Given the description of an element on the screen output the (x, y) to click on. 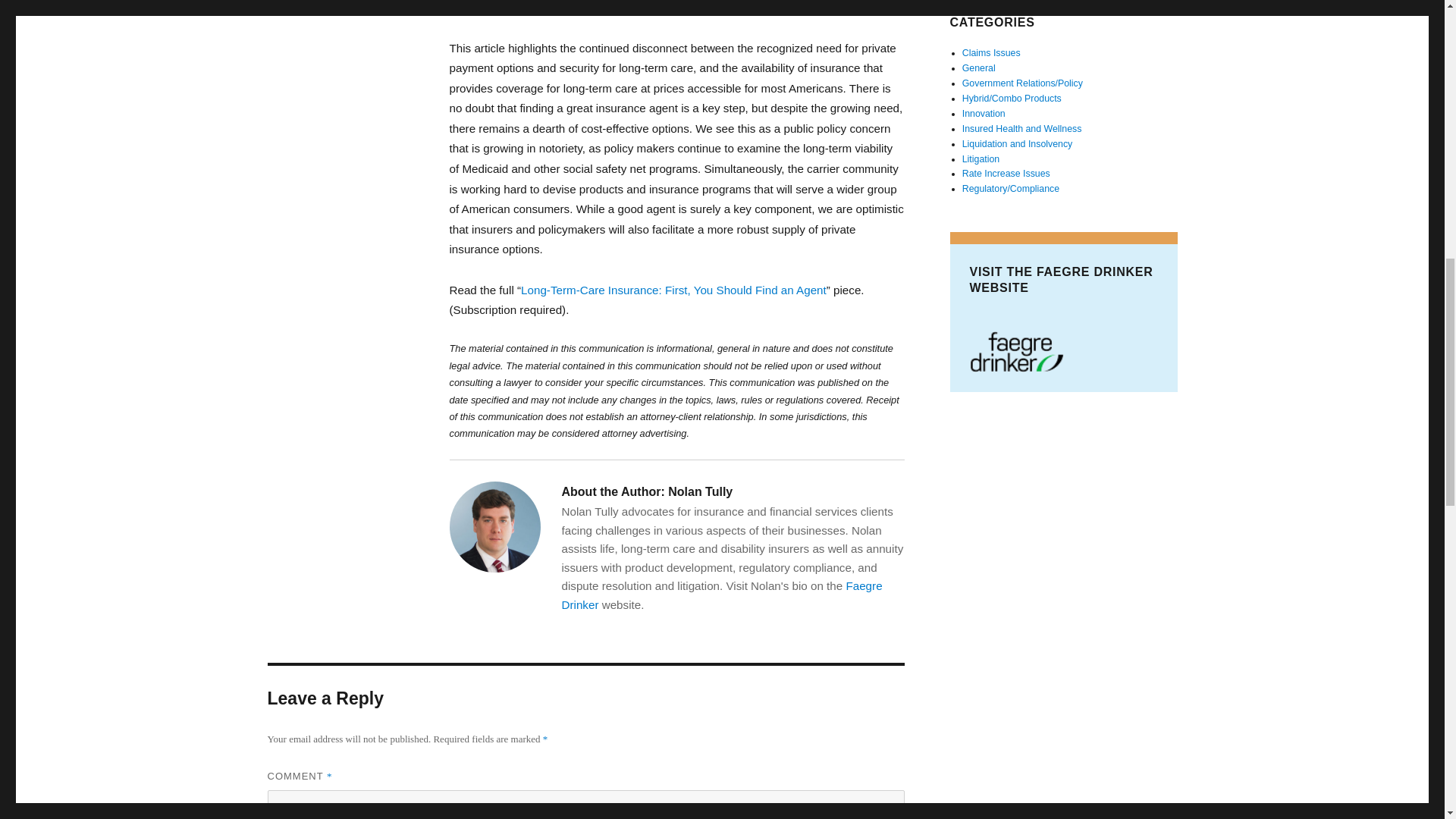
Liquidation and Insolvency (1017, 143)
Insured Health and Wellness (1021, 128)
Innovation (984, 113)
Faegre Drinker (721, 594)
Rate Increase Issues (1005, 173)
General (978, 68)
Claims Issues (991, 52)
Long-Term-Care Insurance: First, You Should Find an Agent (674, 289)
Litigation (980, 158)
